Given the description of an element on the screen output the (x, y) to click on. 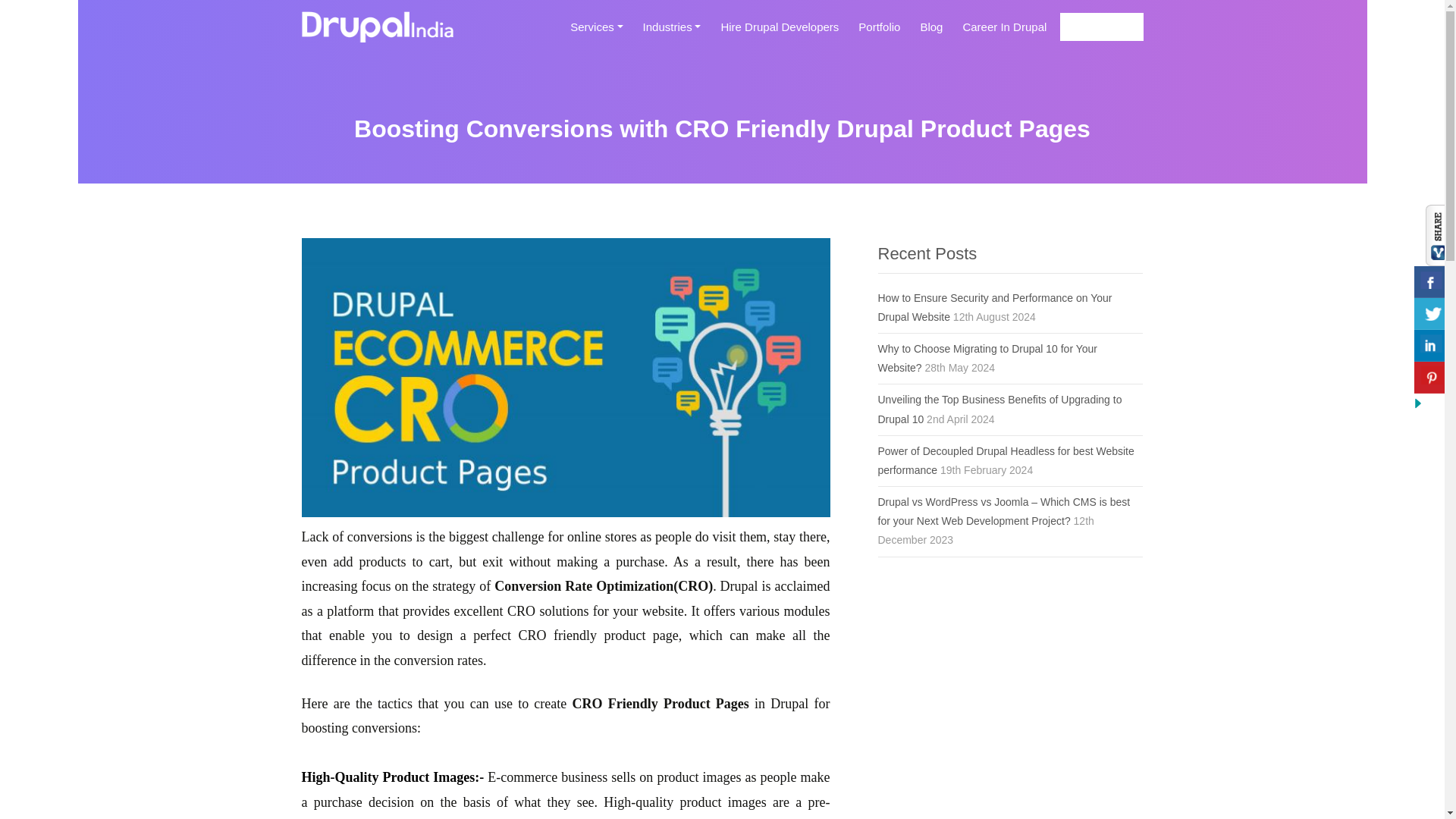
Contact Us (1100, 26)
Hire Drupal Developers (779, 32)
Services (596, 32)
Career In Drupal (1004, 32)
Industries (672, 32)
Portfolio (878, 32)
